Given the description of an element on the screen output the (x, y) to click on. 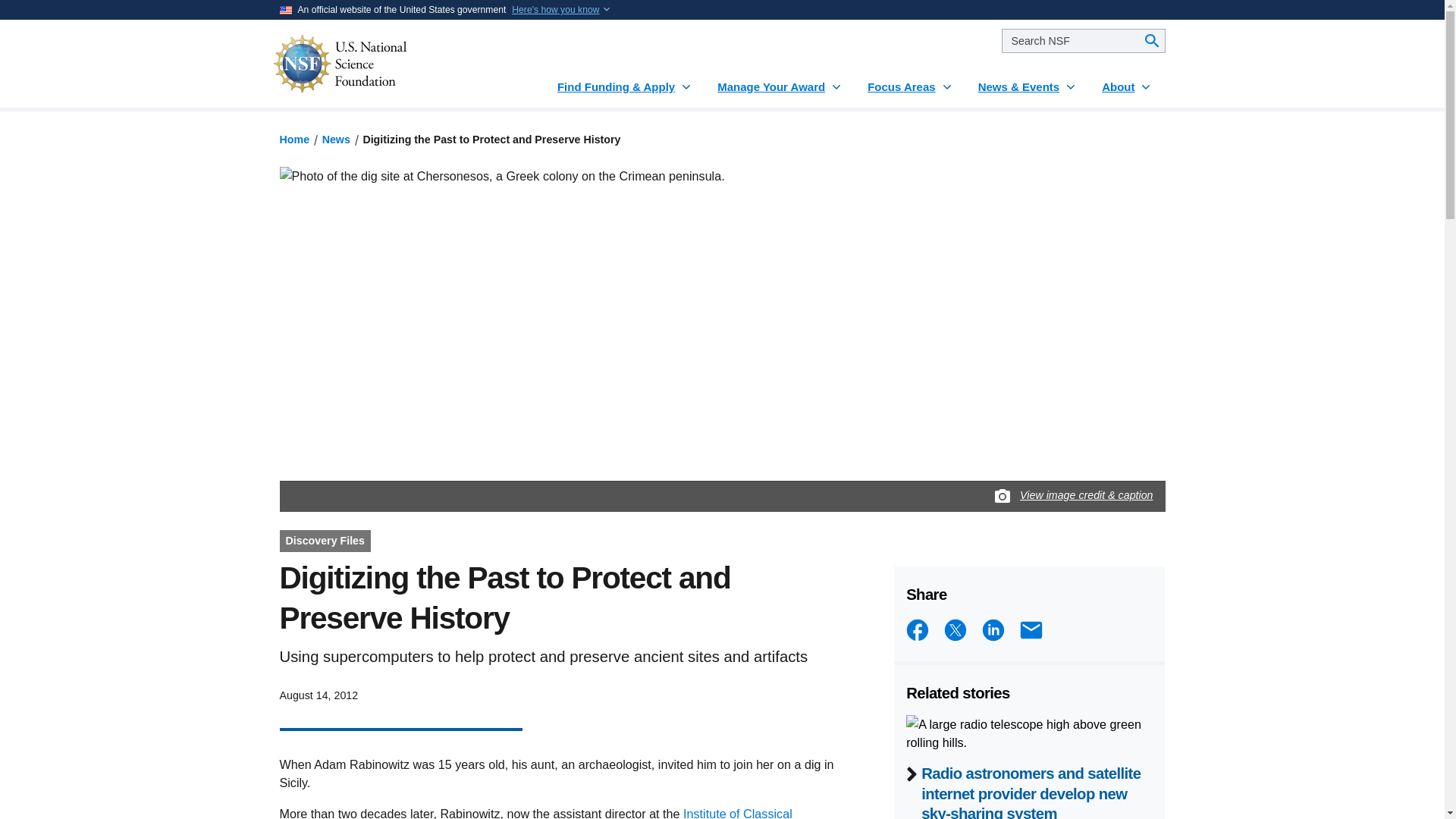
LinkedIn (992, 629)
Focus Areas (910, 80)
Institute of Classical Archaeology (535, 812)
Email (1030, 629)
Here's how you know (555, 9)
NSF - National Science Foundation - Home (385, 63)
Home (293, 139)
Manage Your Award (780, 80)
